Given the description of an element on the screen output the (x, y) to click on. 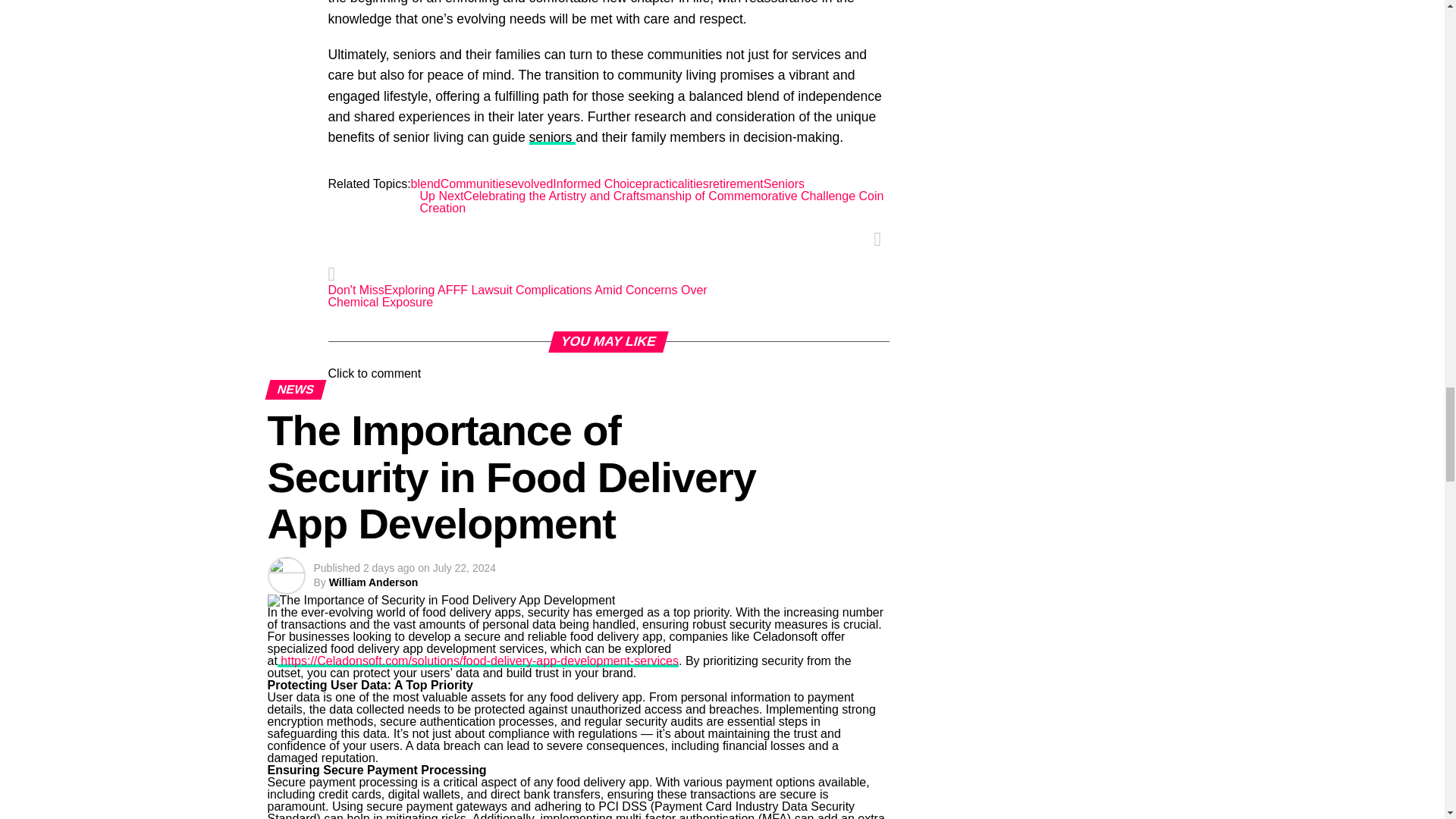
evolved (532, 183)
blend (425, 183)
practicalities (675, 183)
Posts by William Anderson (374, 582)
Communities (476, 183)
seniors (552, 136)
retirement (735, 183)
Seniors (783, 183)
Informed Choice (597, 183)
